Given the description of an element on the screen output the (x, y) to click on. 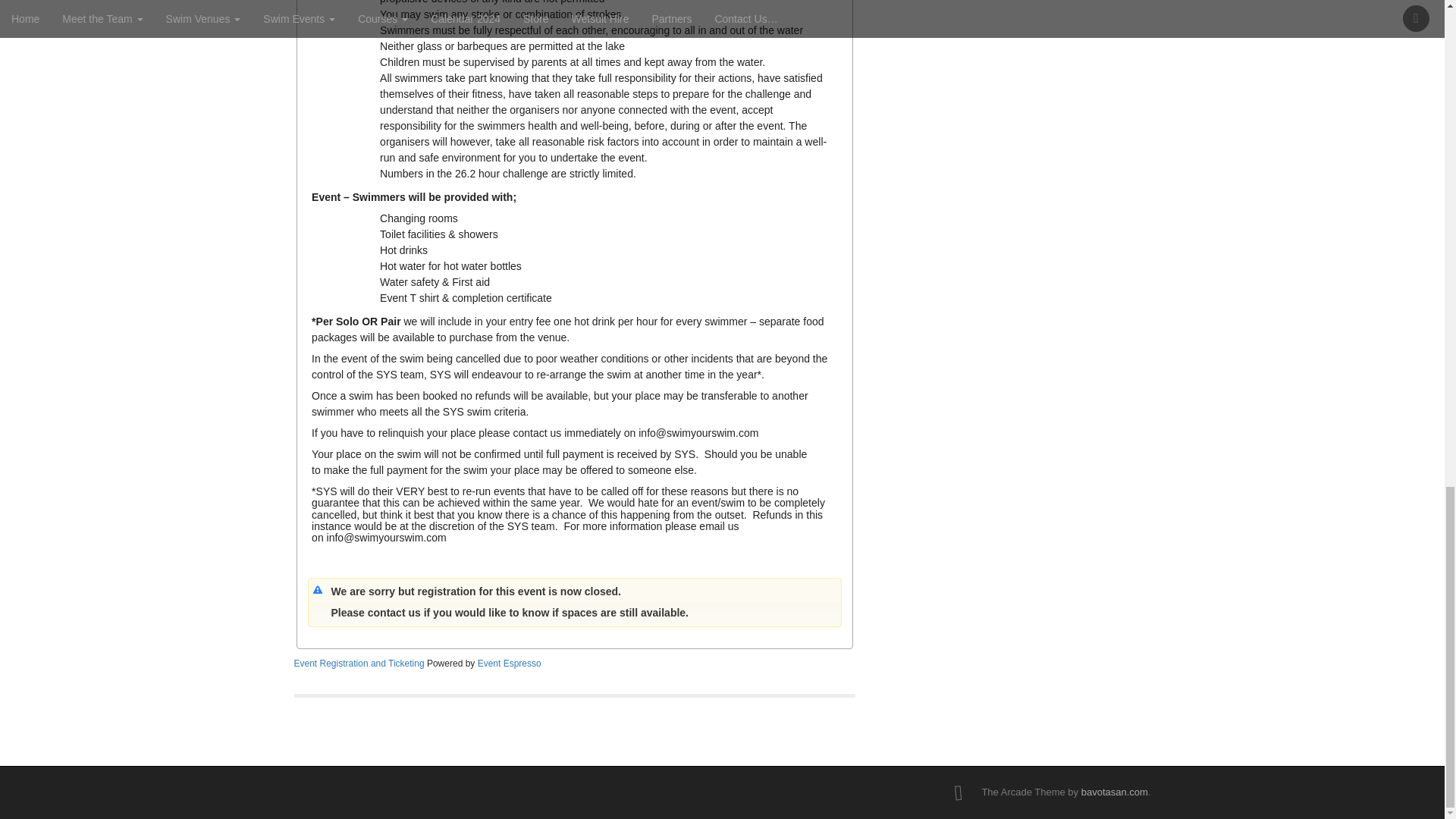
Email Swimyourswim (386, 537)
Email SYS (698, 432)
contact us  (395, 612)
Event Registration Powered by Event Espresso (359, 663)
